Given the description of an element on the screen output the (x, y) to click on. 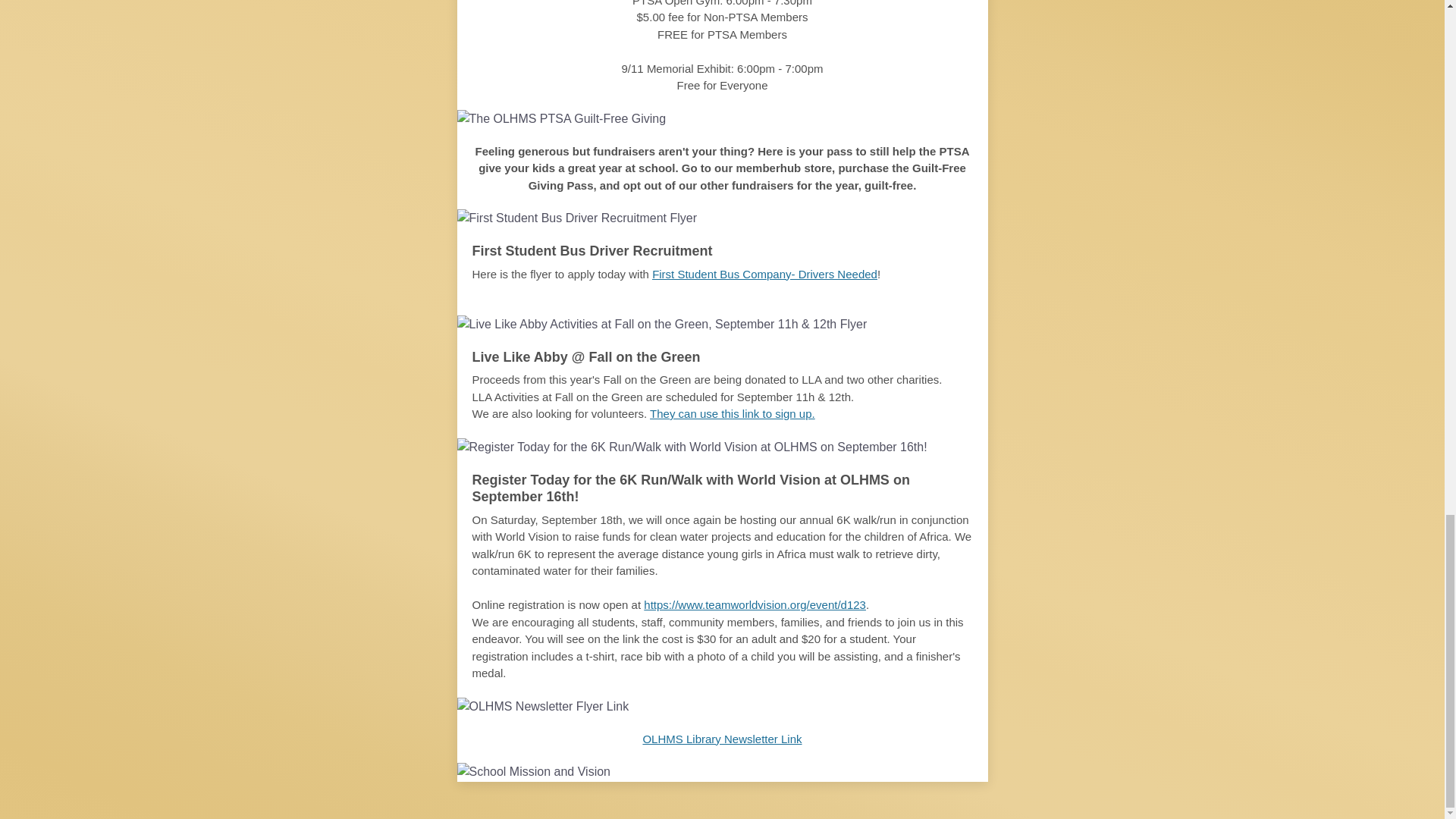
The OLHMS PTSA Guilt-Free Giving  (722, 118)
First Student Bus Driver Recruitment Flyer  (722, 218)
They can use this link to sign up. (732, 413)
School Mission and Vision  (722, 771)
OLHMS Newsletter Flyer Link  (722, 705)
OLHMS Library Newsletter Link (722, 738)
First Student Bus Company- Drivers Needed (764, 273)
